Given the description of an element on the screen output the (x, y) to click on. 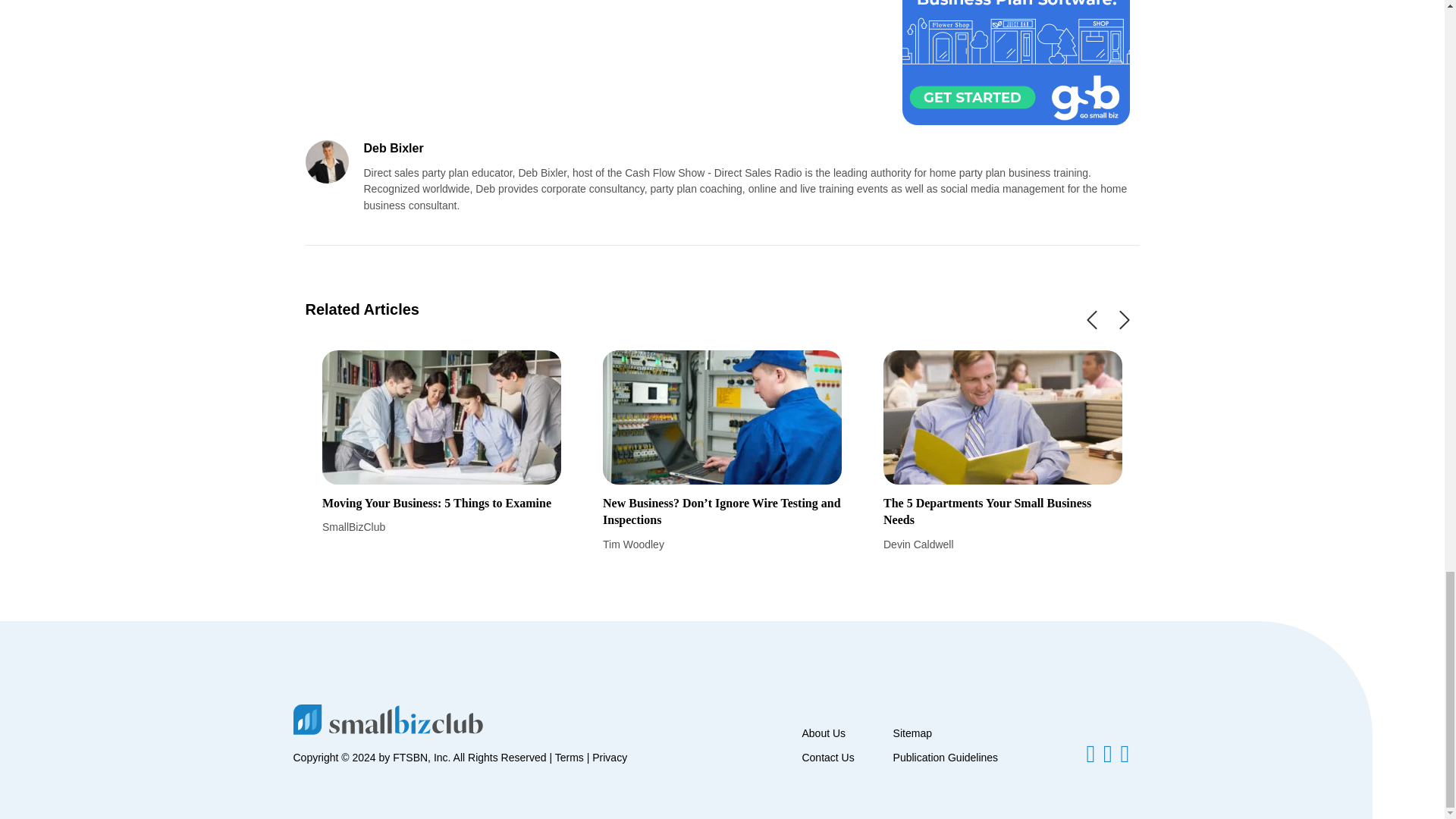
SmallBizClub-Primary-Logo-2023 (386, 718)
